Given the description of an element on the screen output the (x, y) to click on. 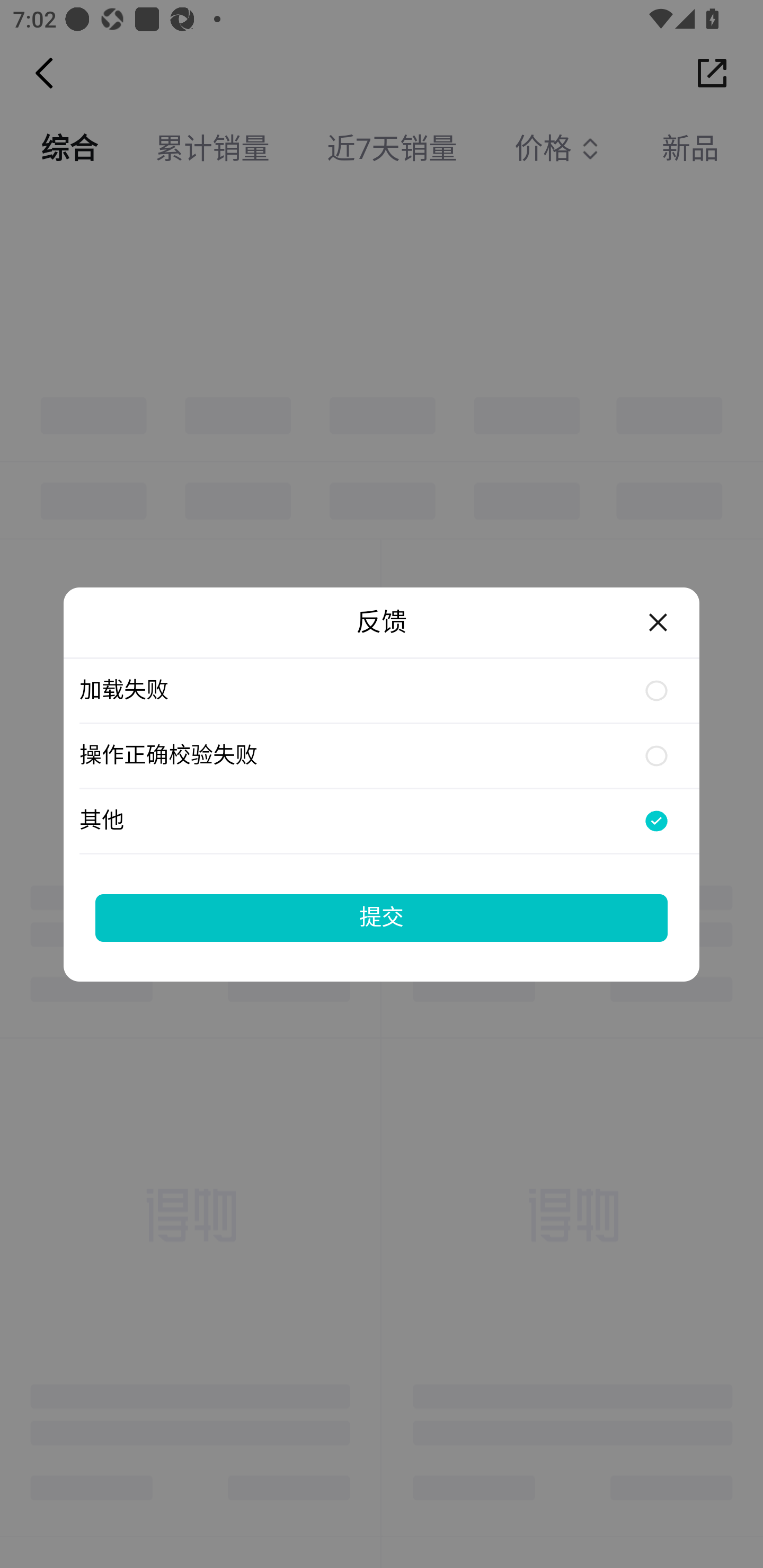
提交 (381, 917)
